Given the description of an element on the screen output the (x, y) to click on. 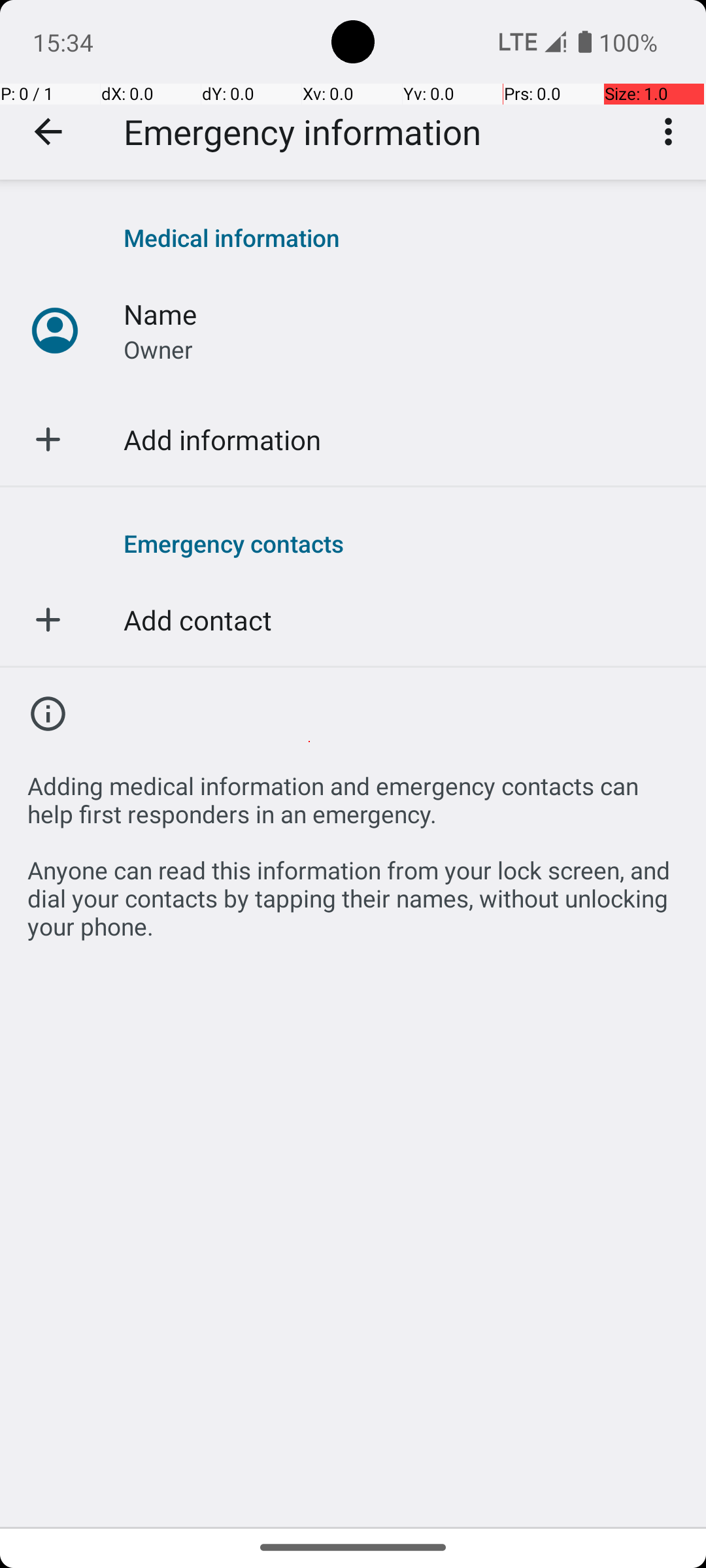
Emergency information Element type: android.widget.TextView (302, 131)
Medical information Element type: android.widget.TextView (400, 237)
Owner Element type: android.widget.TextView (157, 348)
Add information Element type: android.widget.TextView (221, 438)
Emergency contacts Element type: android.widget.TextView (400, 542)
Add contact Element type: android.widget.TextView (197, 619)
Adding medical information and emergency contacts can help first responders in an emergency.

Anyone can read this information from your lock screen, and dial your contacts by tapping their names, without unlocking your phone. Element type: android.widget.TextView (352, 848)
